Given the description of an element on the screen output the (x, y) to click on. 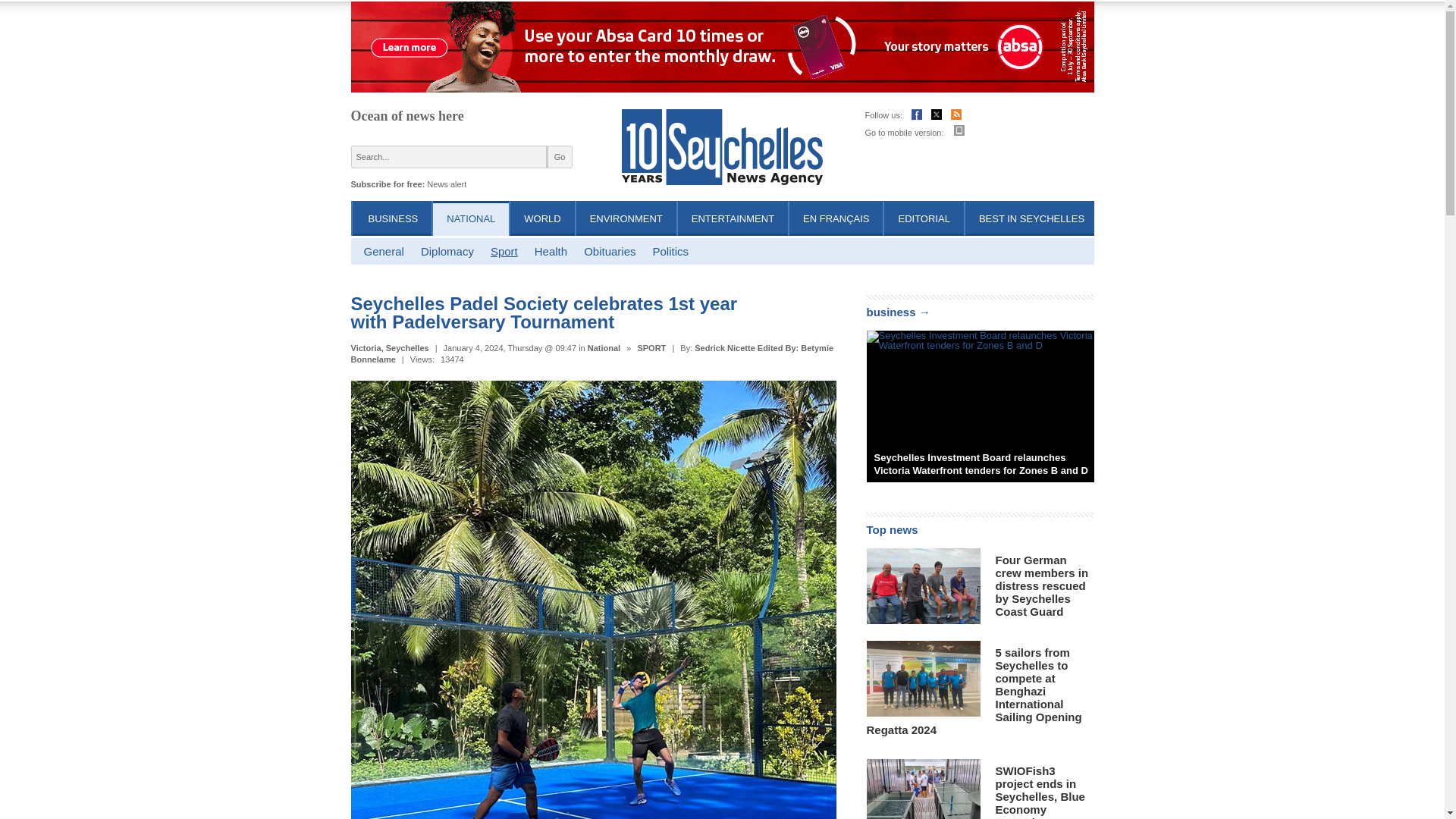
Sedrick Nicette Edited By: Betymie Bonnelame (591, 353)
Entertainment (732, 218)
Go (559, 156)
BUSINESS (393, 218)
General (384, 250)
ENTERTAINMENT (732, 218)
Facebook (916, 116)
SPORT (651, 347)
Diplomacy (447, 250)
WORLD (542, 218)
